Given the description of an element on the screen output the (x, y) to click on. 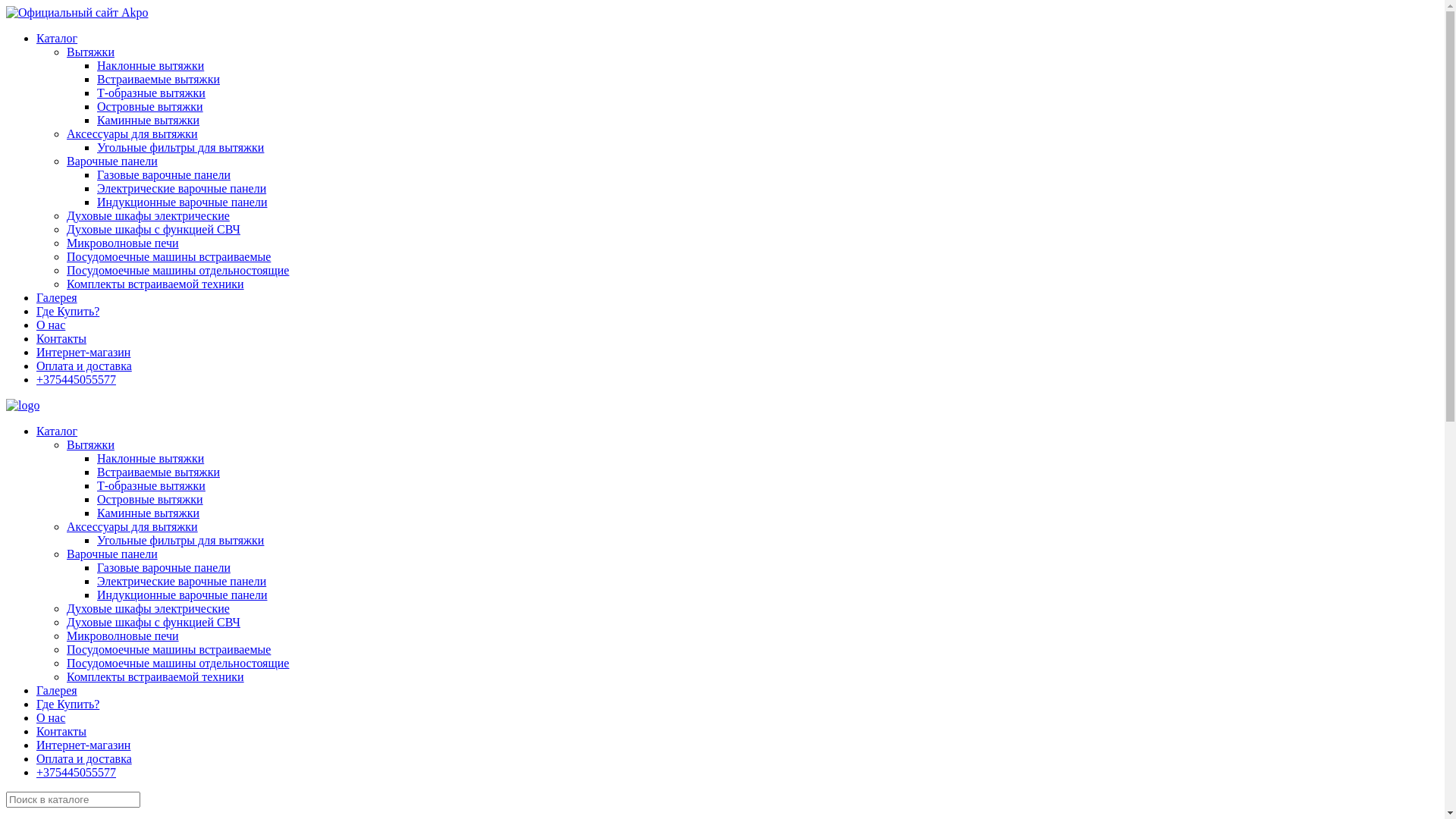
+375445055577 Element type: text (76, 771)
+375445055577 Element type: text (76, 379)
